Given the description of an element on the screen output the (x, y) to click on. 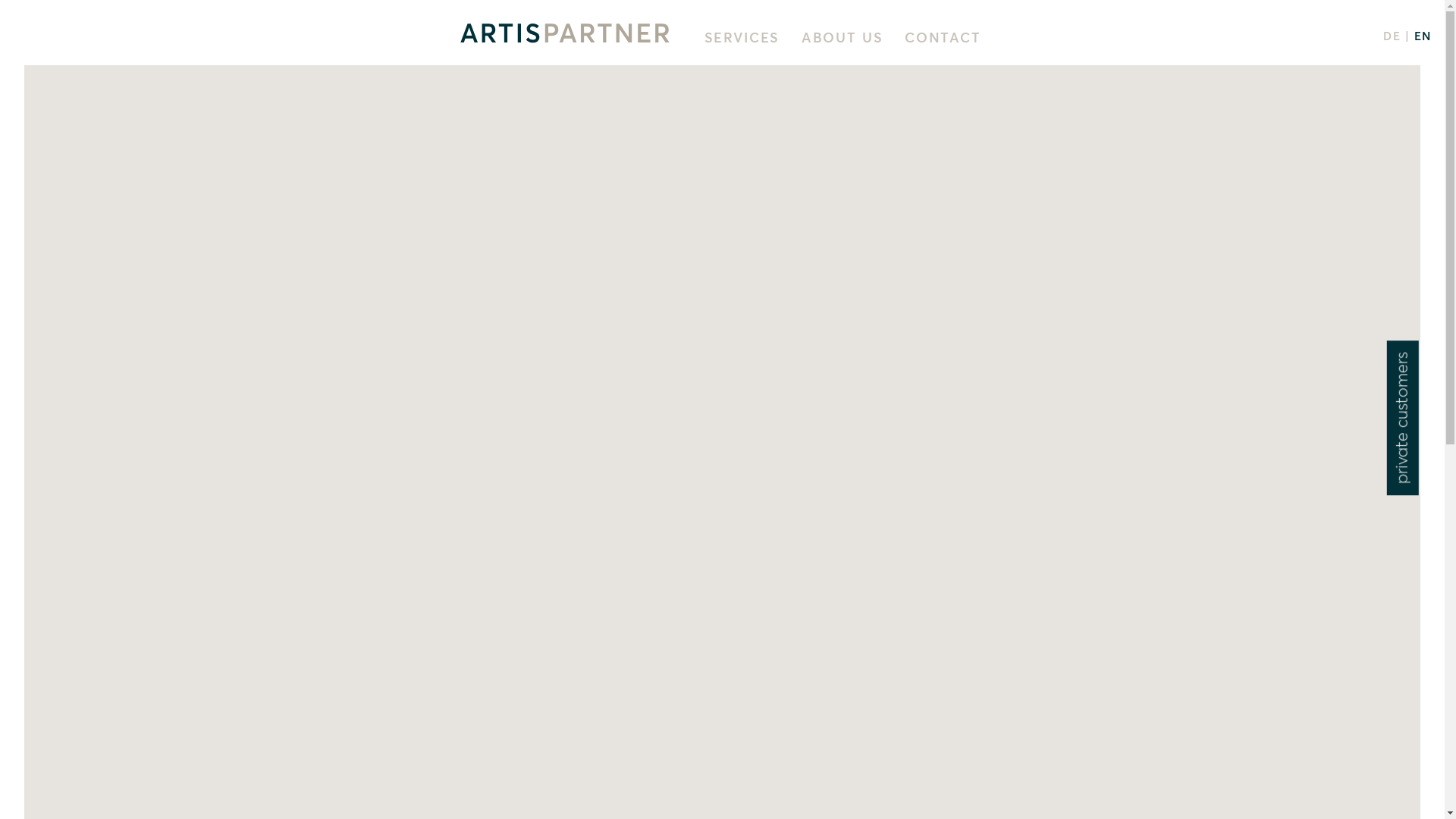
CONTACT Element type: text (942, 38)
ABOUT US Element type: text (842, 38)
SERVICES Element type: text (742, 38)
DE Element type: text (1391, 36)
EN Element type: text (1422, 36)
